Given the description of an element on the screen output the (x, y) to click on. 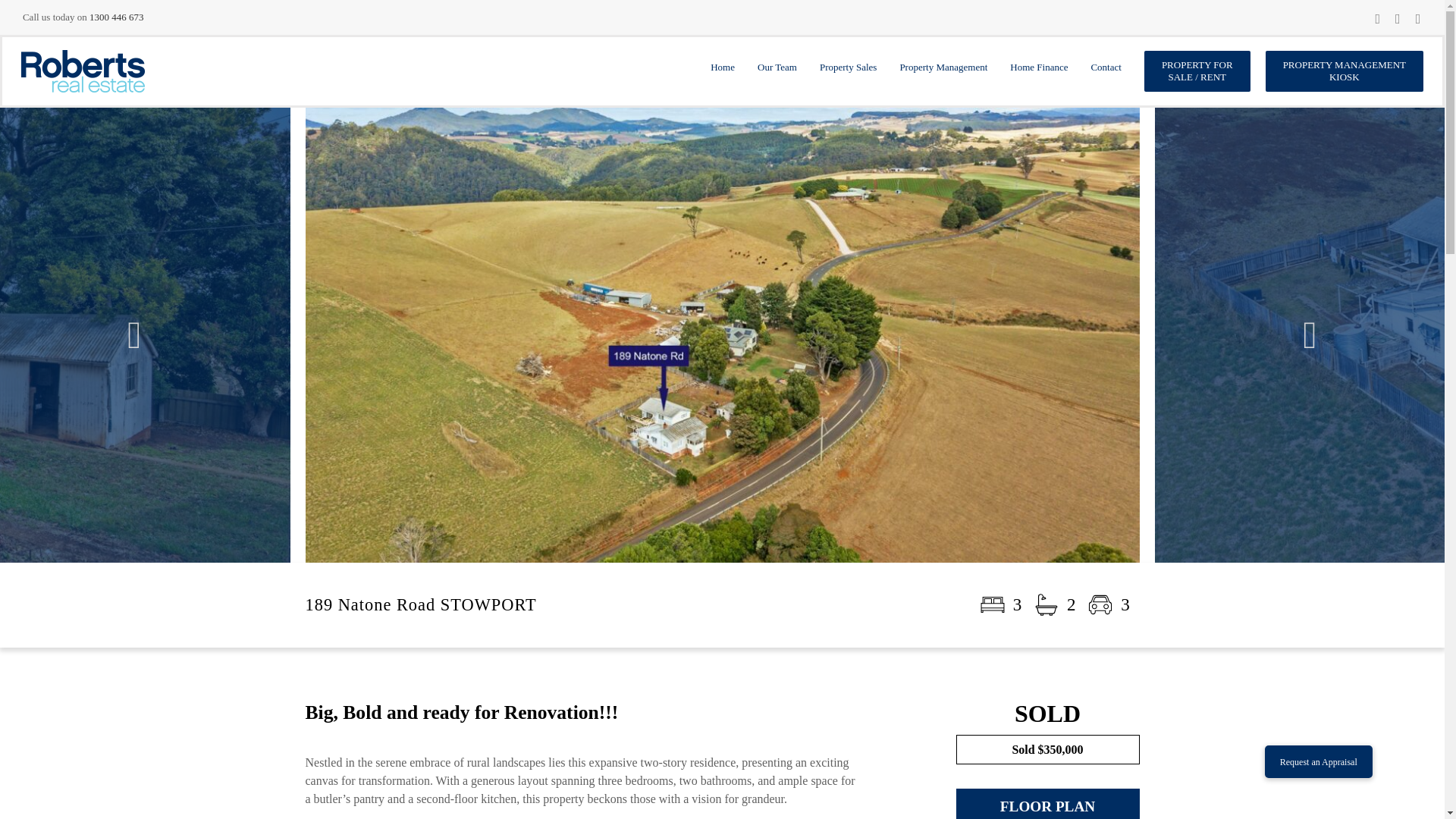
Home (726, 71)
1300 446 673 (116, 16)
Property Management (946, 71)
Our Team (781, 71)
Home Finance (1042, 71)
Contact (1109, 71)
Property Sales (851, 71)
